Given the description of an element on the screen output the (x, y) to click on. 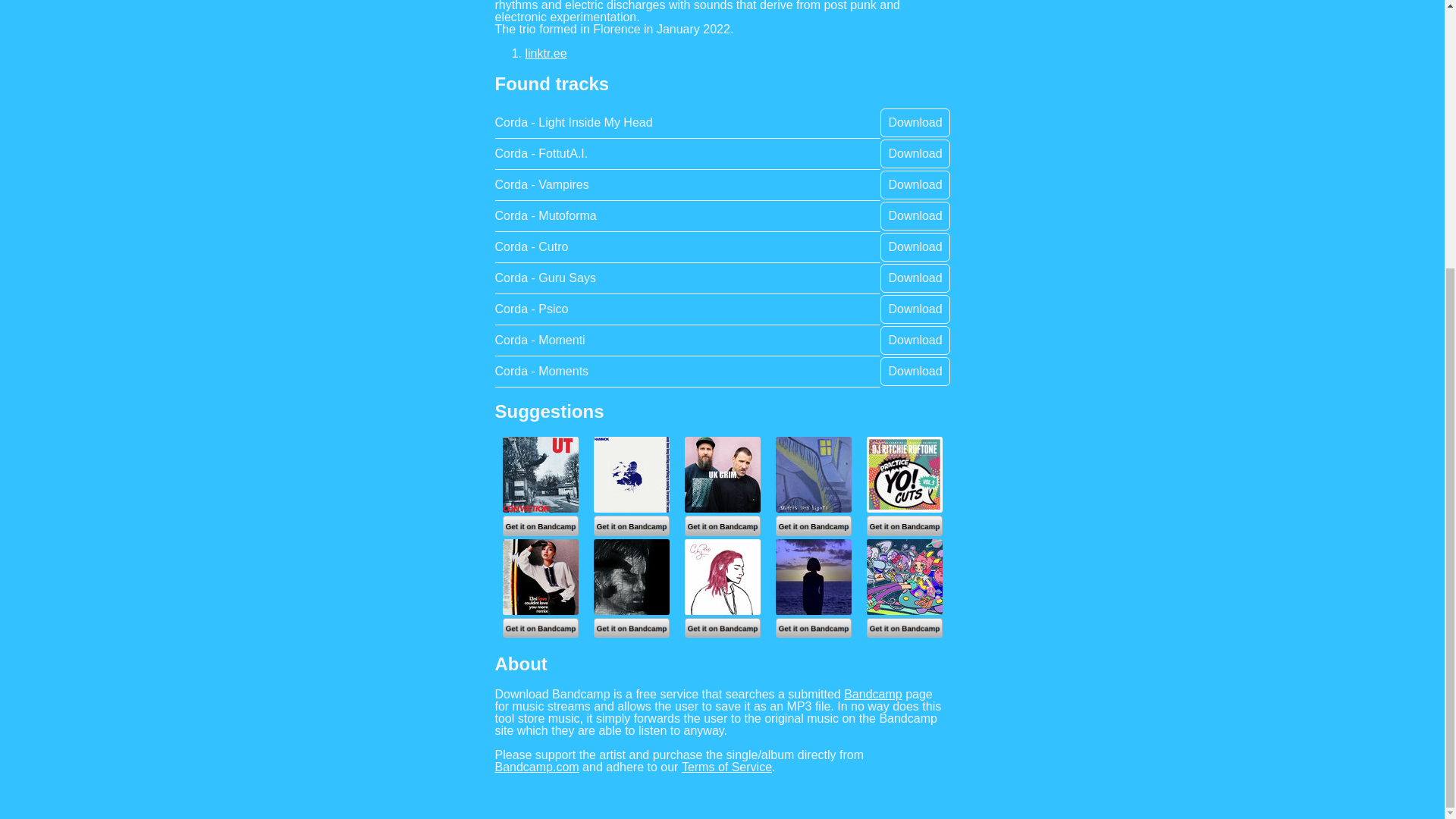
Bandcamp (872, 694)
Terms of Service (727, 766)
Download (914, 278)
Bandcamp.com (537, 766)
linktr.ee (545, 52)
Download (914, 246)
Download (914, 215)
Download (914, 339)
Download (914, 370)
Download (914, 184)
